Given the description of an element on the screen output the (x, y) to click on. 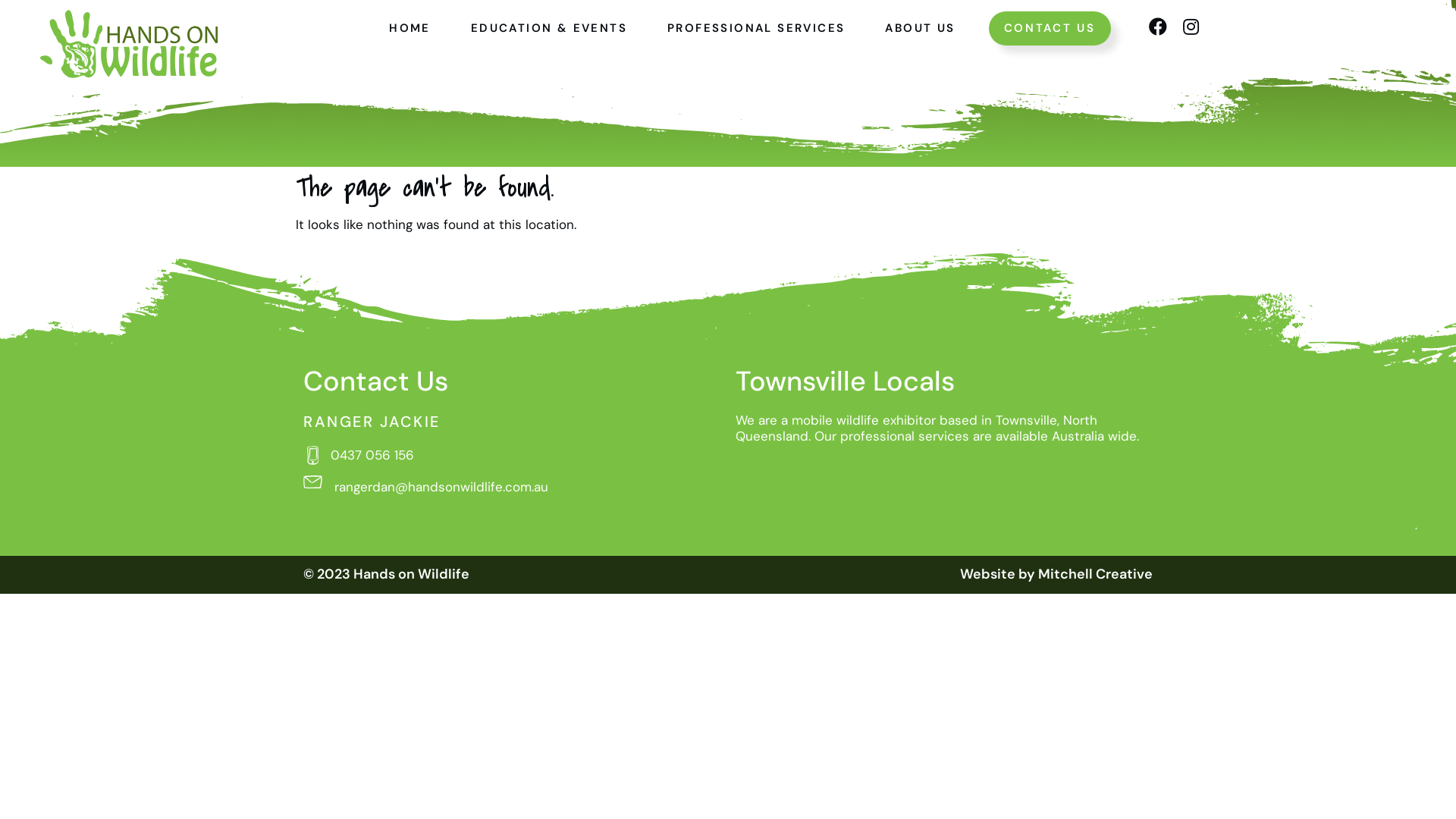
CONTACT US Element type: text (1049, 28)
rangerdan@handsonwildlife.com.au Element type: text (511, 483)
HOME Element type: text (409, 26)
ABOUT US Element type: text (919, 26)
PROFESSIONAL SERVICES Element type: text (755, 26)
EDUCATION & EVENTS Element type: text (548, 26)
0437 056 156 Element type: text (511, 454)
Website by Mitchell Creative Element type: text (1056, 573)
